Given the description of an element on the screen output the (x, y) to click on. 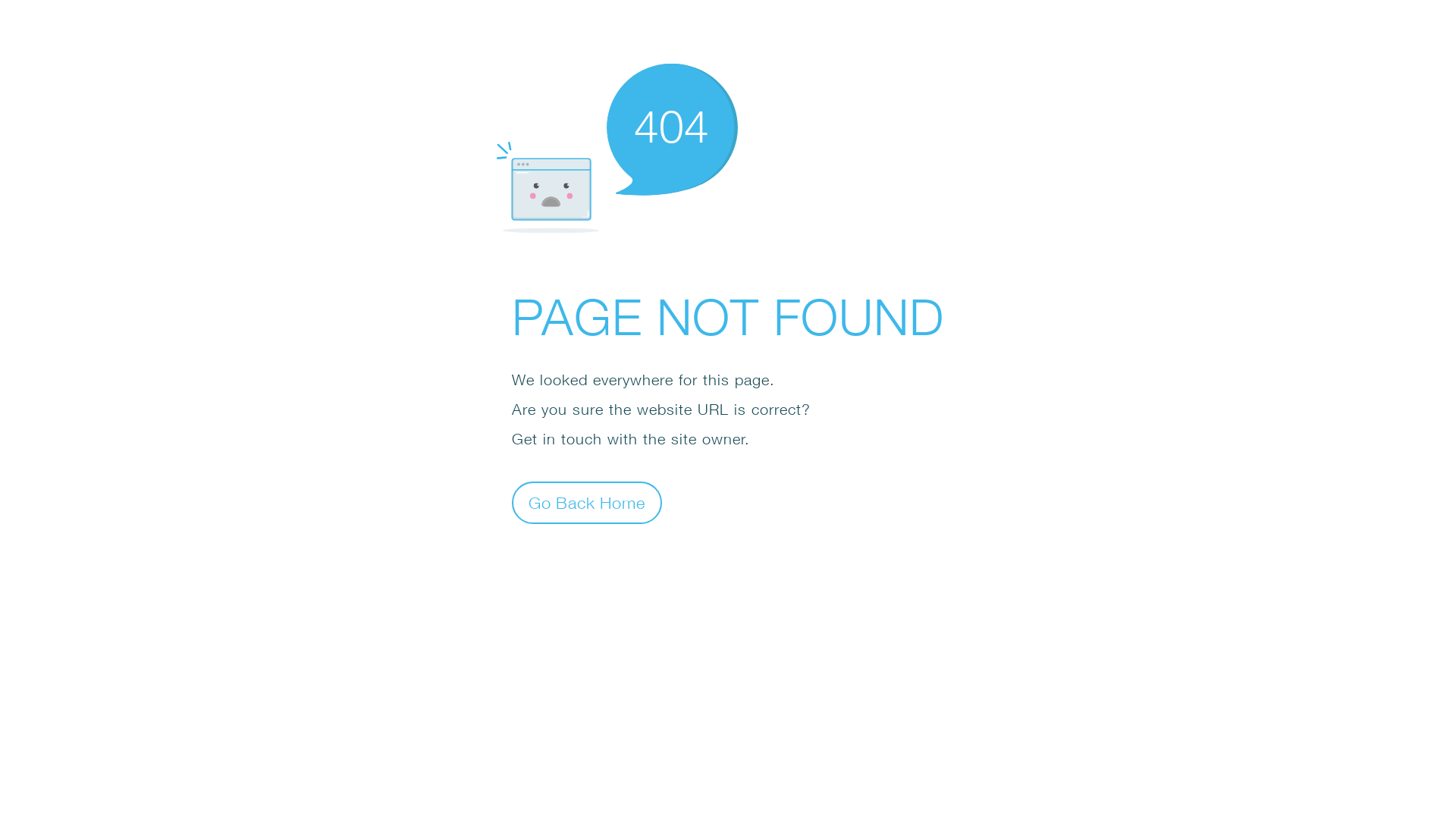
Go Back Home Element type: text (586, 502)
